Given the description of an element on the screen output the (x, y) to click on. 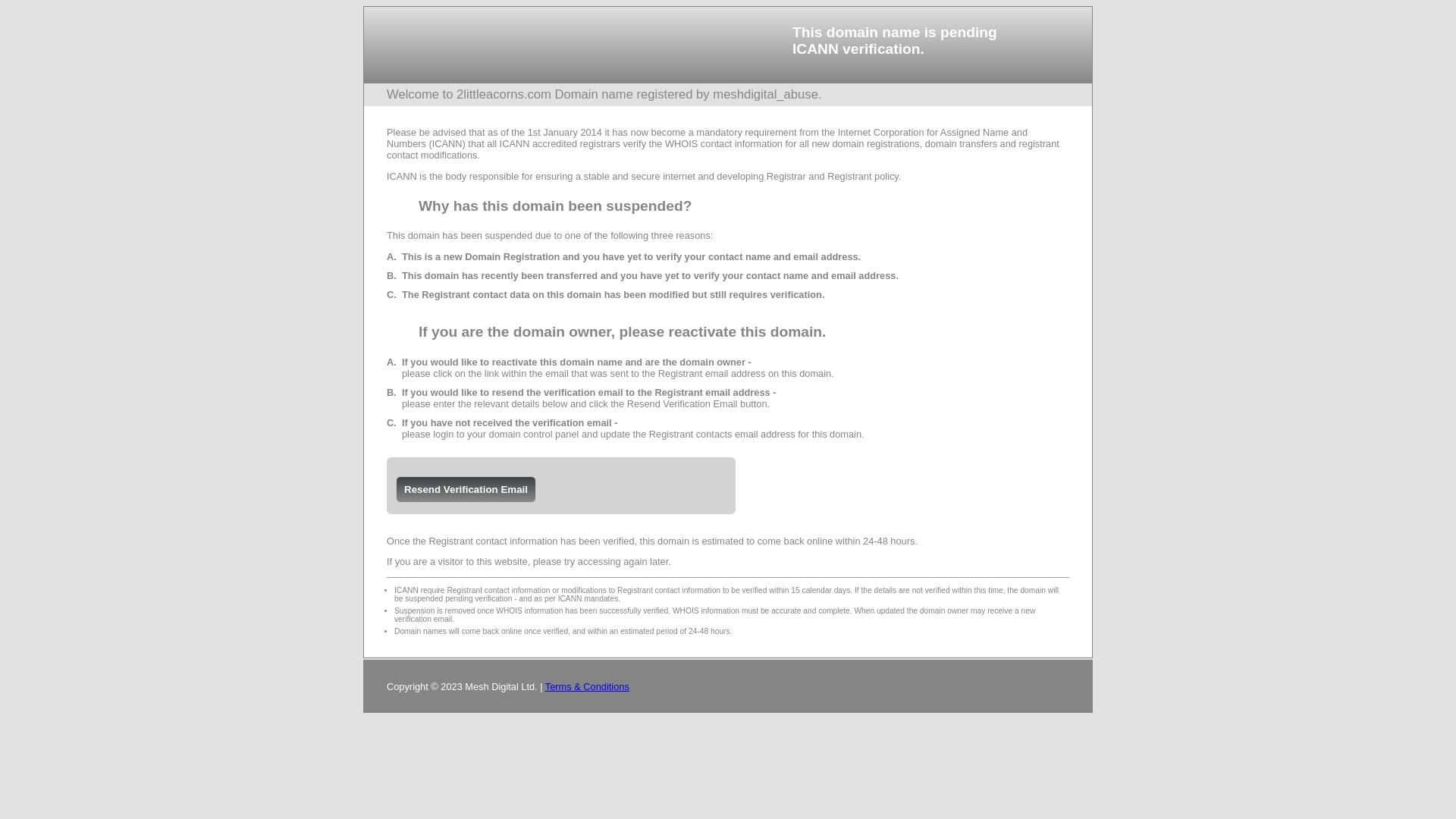
Terms & Conditions Element type: text (587, 686)
Resend Verification Email Element type: text (465, 489)
